Given the description of an element on the screen output the (x, y) to click on. 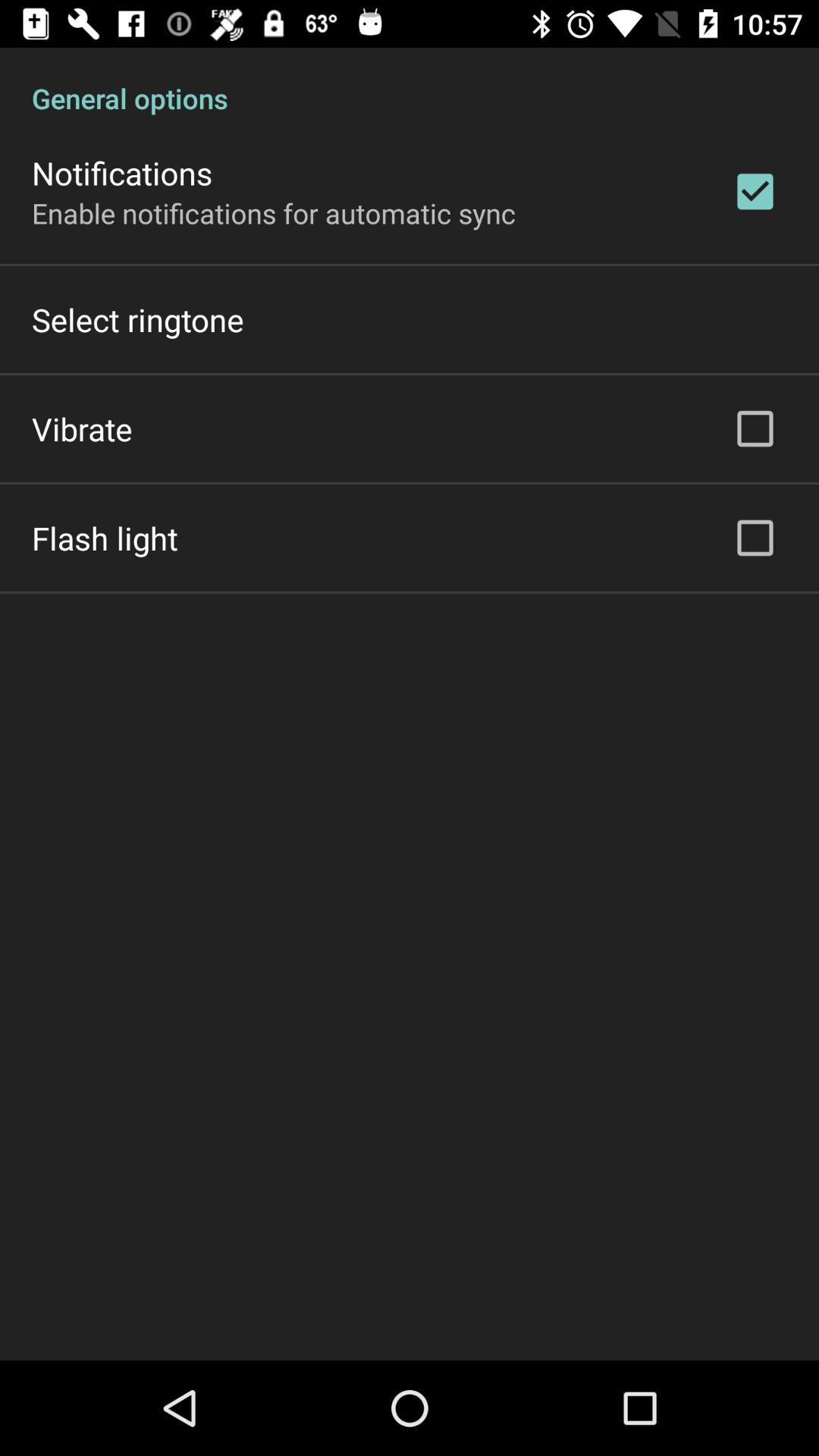
launch general options (409, 82)
